Given the description of an element on the screen output the (x, y) to click on. 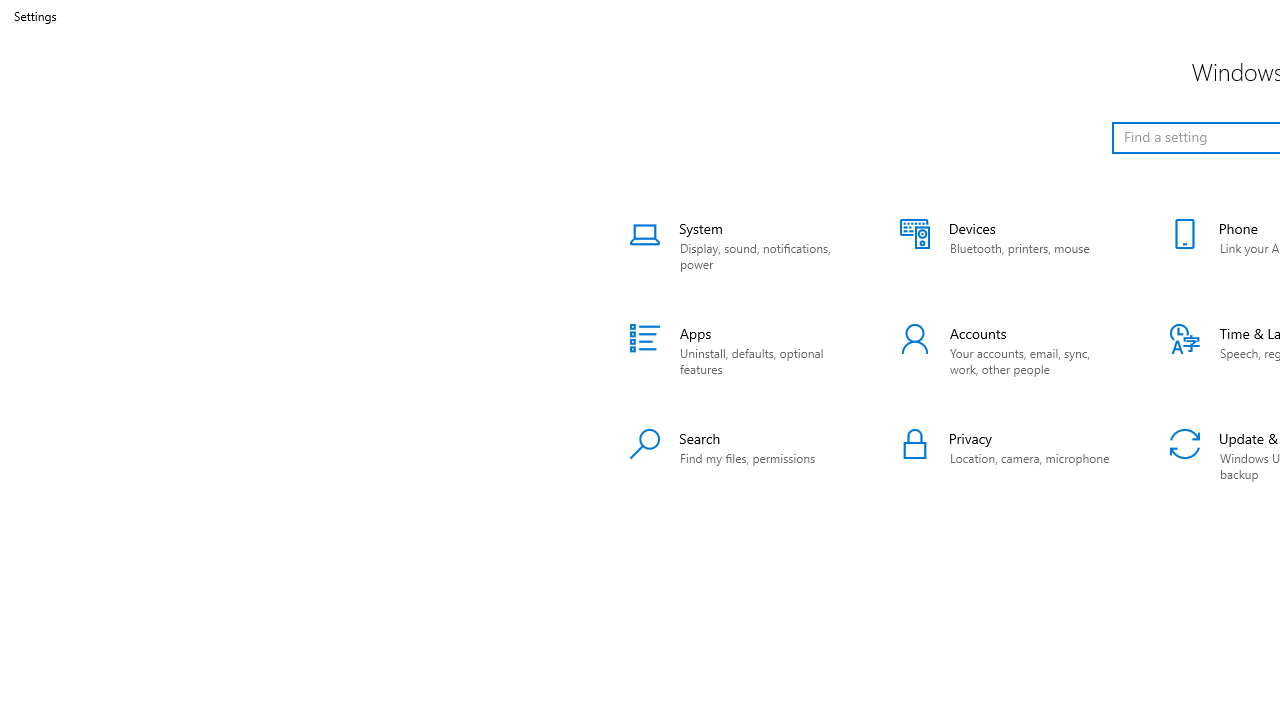
Devices (1009, 245)
Apps (739, 350)
System (739, 245)
Search (739, 455)
Accounts (1009, 350)
Privacy (1009, 455)
